Given the description of an element on the screen output the (x, y) to click on. 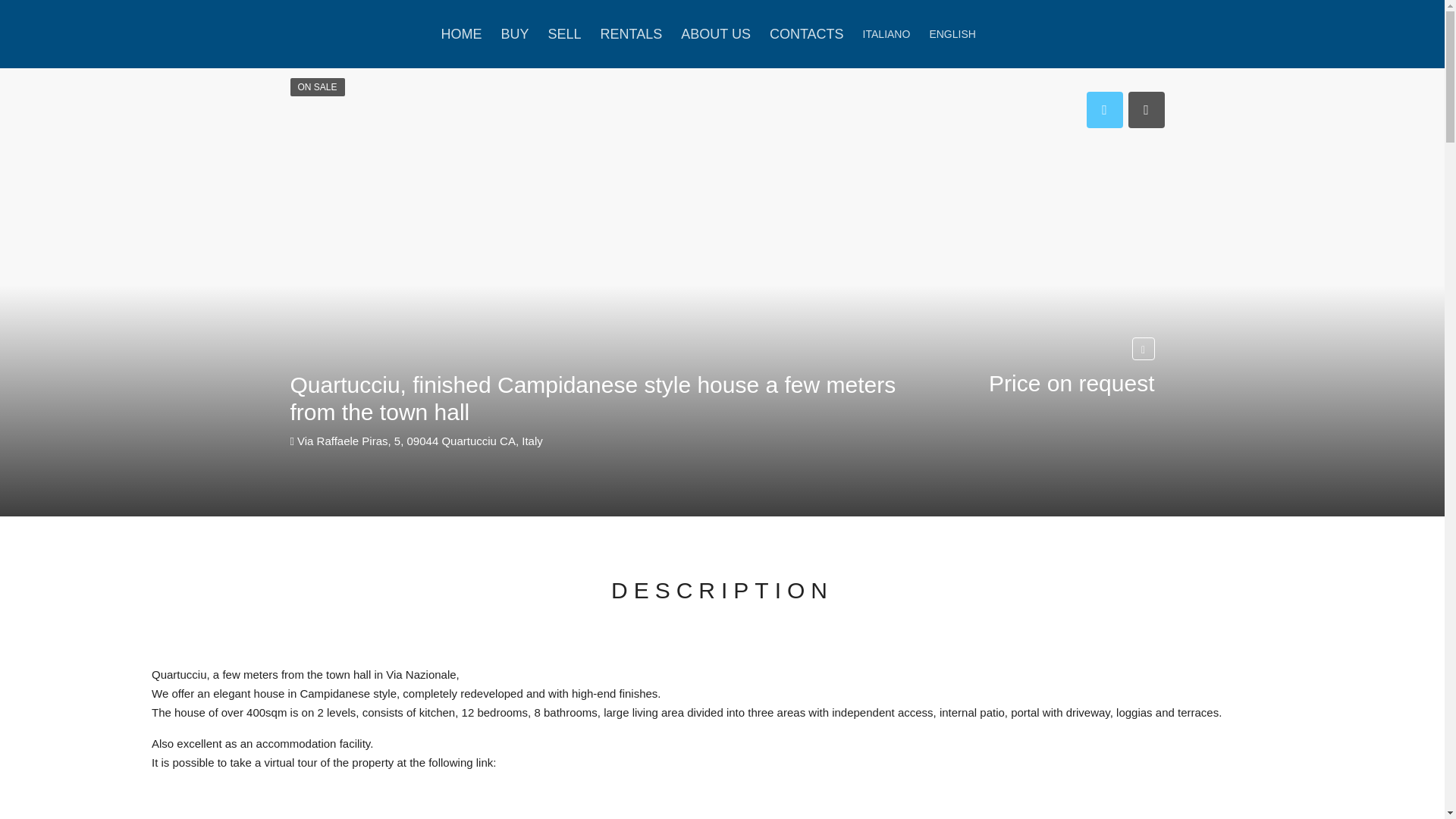
ITALIANO (887, 33)
English (951, 33)
BUY (514, 33)
ABOUT US (716, 33)
SELL (564, 33)
ENGLISH (951, 33)
HOME (461, 33)
CONTACTS (807, 33)
Italiano (887, 33)
Campidanese ristrutturata (394, 795)
ON SALE (316, 86)
RENTALS (630, 33)
